Given the description of an element on the screen output the (x, y) to click on. 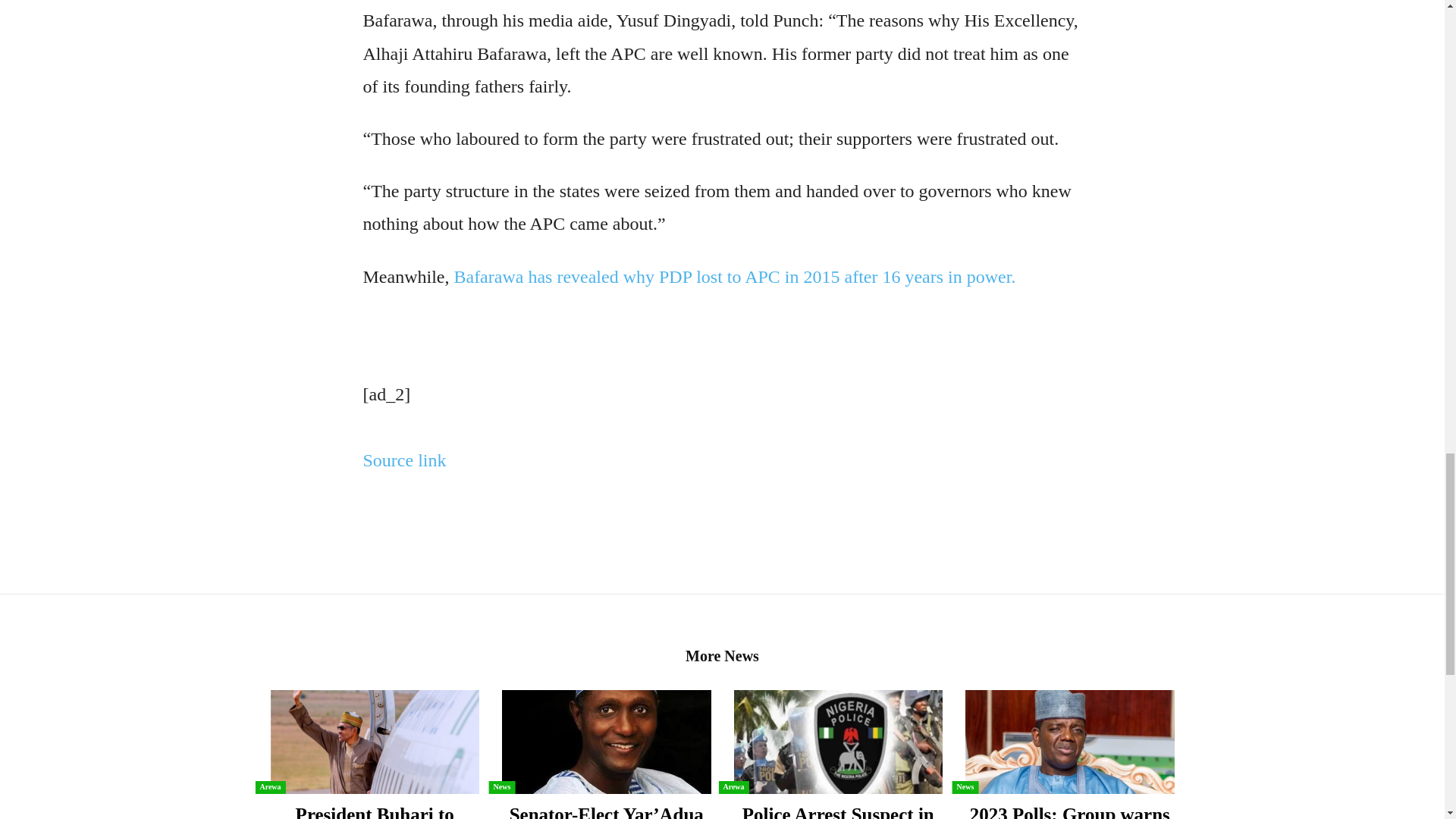
Arewa (269, 787)
News (502, 787)
Source link (403, 460)
